Given the description of an element on the screen output the (x, y) to click on. 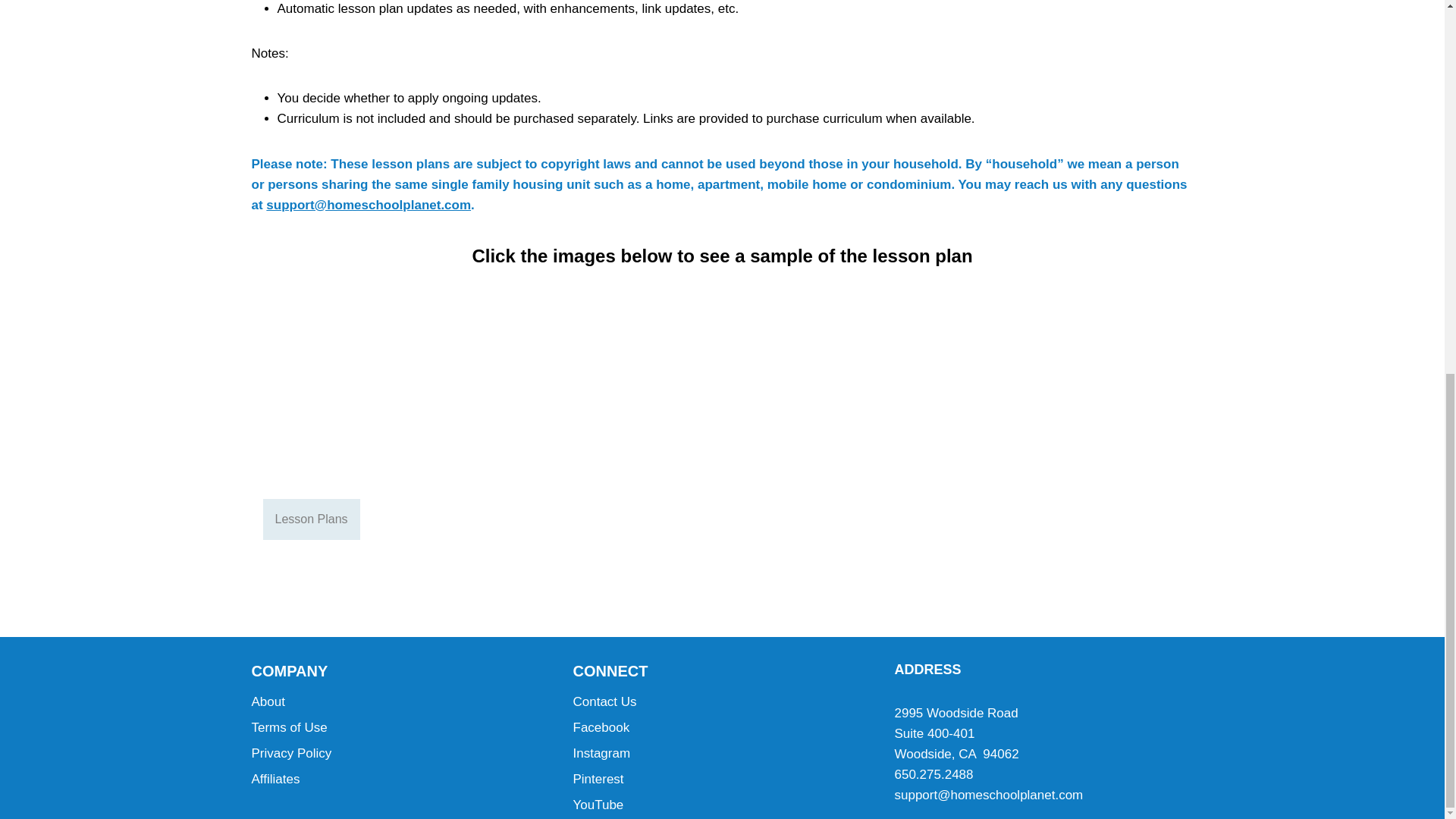
Facebook (722, 728)
Terms of Use (400, 728)
Contact Us (722, 702)
Lesson Plans (310, 518)
Privacy Policy (400, 754)
Instagram (722, 754)
Jensens-Vocabulary-Daily-Digest (854, 405)
Pinterest (722, 780)
Affiliates (400, 780)
About (400, 702)
